Given the description of an element on the screen output the (x, y) to click on. 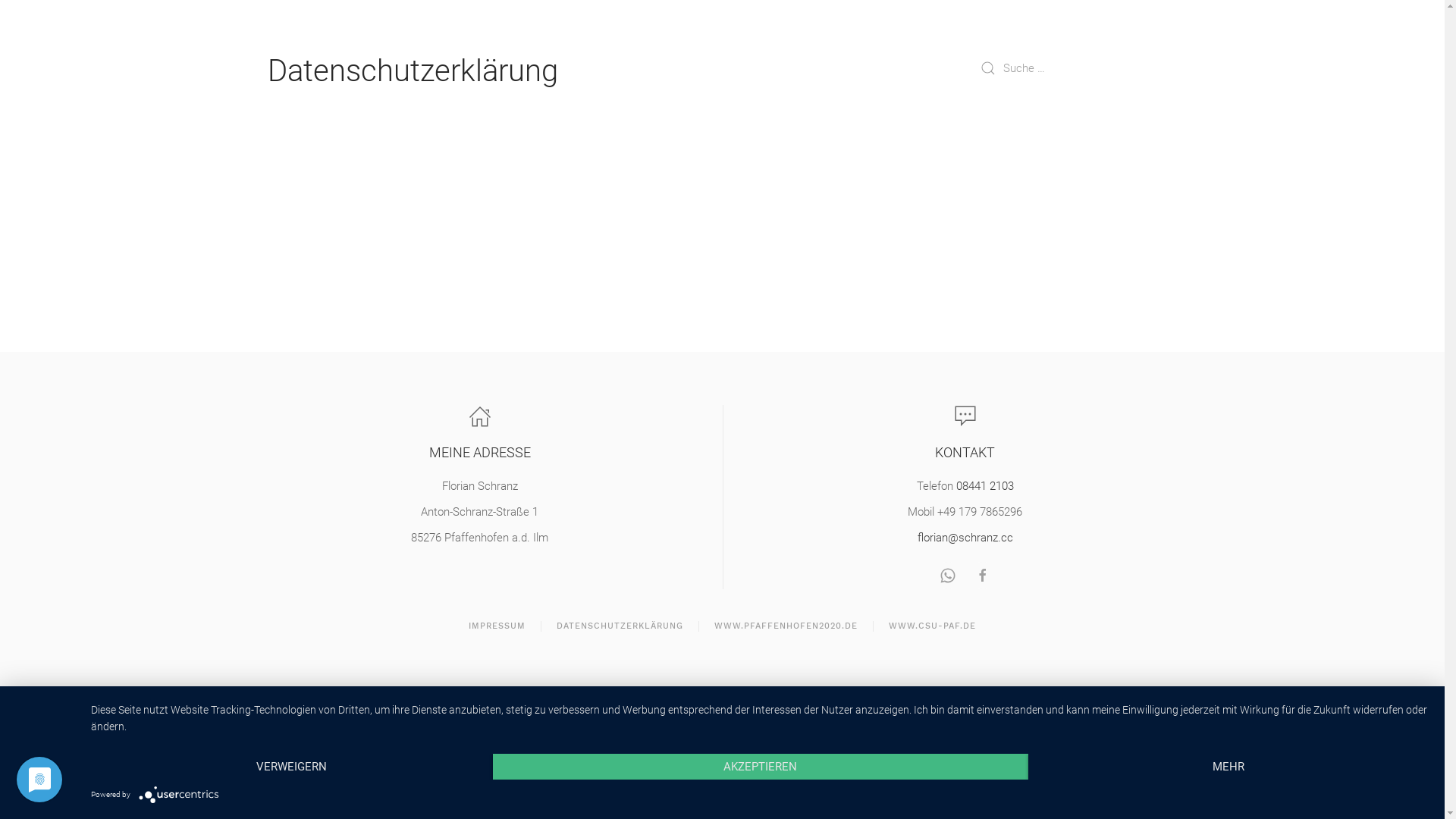
WWW.CSU-PAF.DE Element type: text (931, 626)
08441 2103 Element type: text (984, 485)
florian@schranz.cc Element type: text (965, 537)
AKZEPTIEREN Element type: text (760, 766)
VERWEIGERN Element type: text (291, 766)
MEHR Element type: text (1229, 766)
IMPRESSUM Element type: text (496, 626)
WWW.PFAFFENHOFEN2020.DE Element type: text (785, 626)
